Given the description of an element on the screen output the (x, y) to click on. 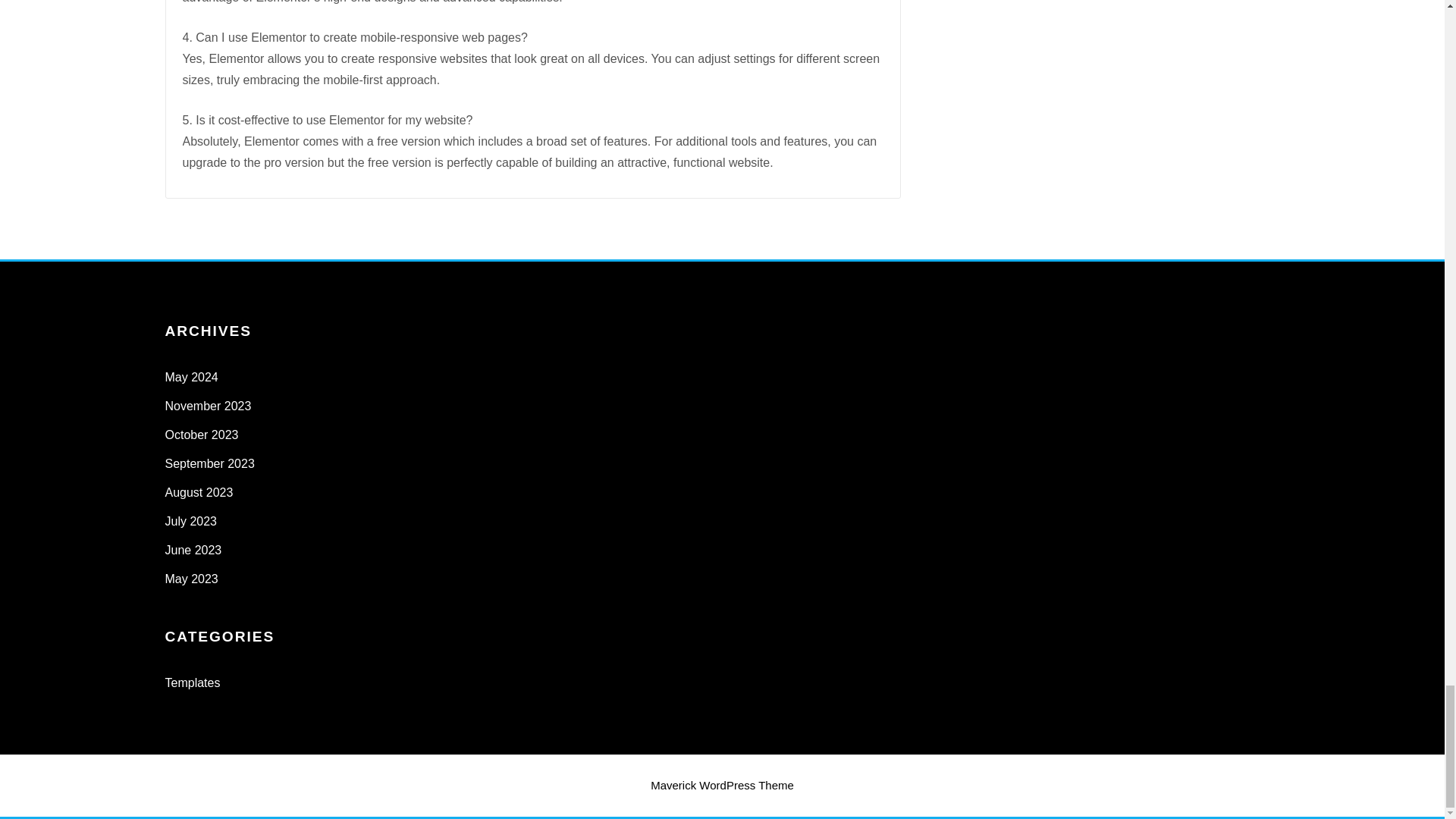
September 2023 (209, 463)
May 2024 (191, 377)
August 2023 (198, 492)
Templates (193, 682)
July 2023 (190, 521)
November 2023 (208, 405)
May 2023 (191, 578)
June 2023 (193, 549)
October 2023 (201, 434)
